Given the description of an element on the screen output the (x, y) to click on. 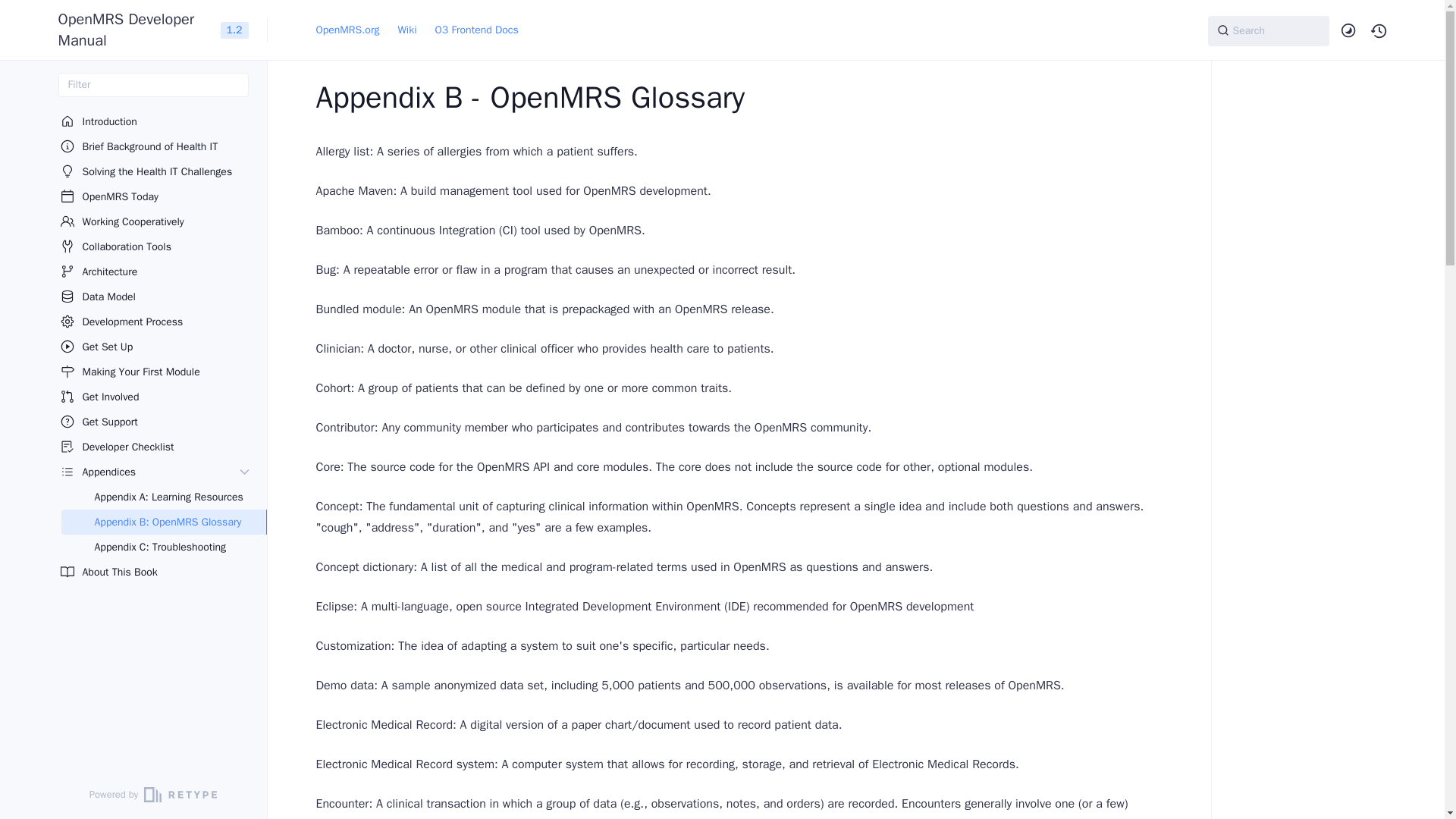
Working Cooperatively (155, 221)
Architecture (155, 271)
Collaboration Tools (155, 246)
Developer Checklist (155, 446)
Get Set Up (155, 346)
OpenMRS.org (346, 29)
Development Process (155, 321)
Introduction (155, 121)
OpenMRS Developer Manual (133, 29)
Brief Background of Health IT (155, 146)
About This Book (155, 571)
Appendices (145, 471)
Appendix A: Learning Resources (161, 496)
Solving the Health IT Challenges (155, 171)
Get Involved (155, 396)
